Given the description of an element on the screen output the (x, y) to click on. 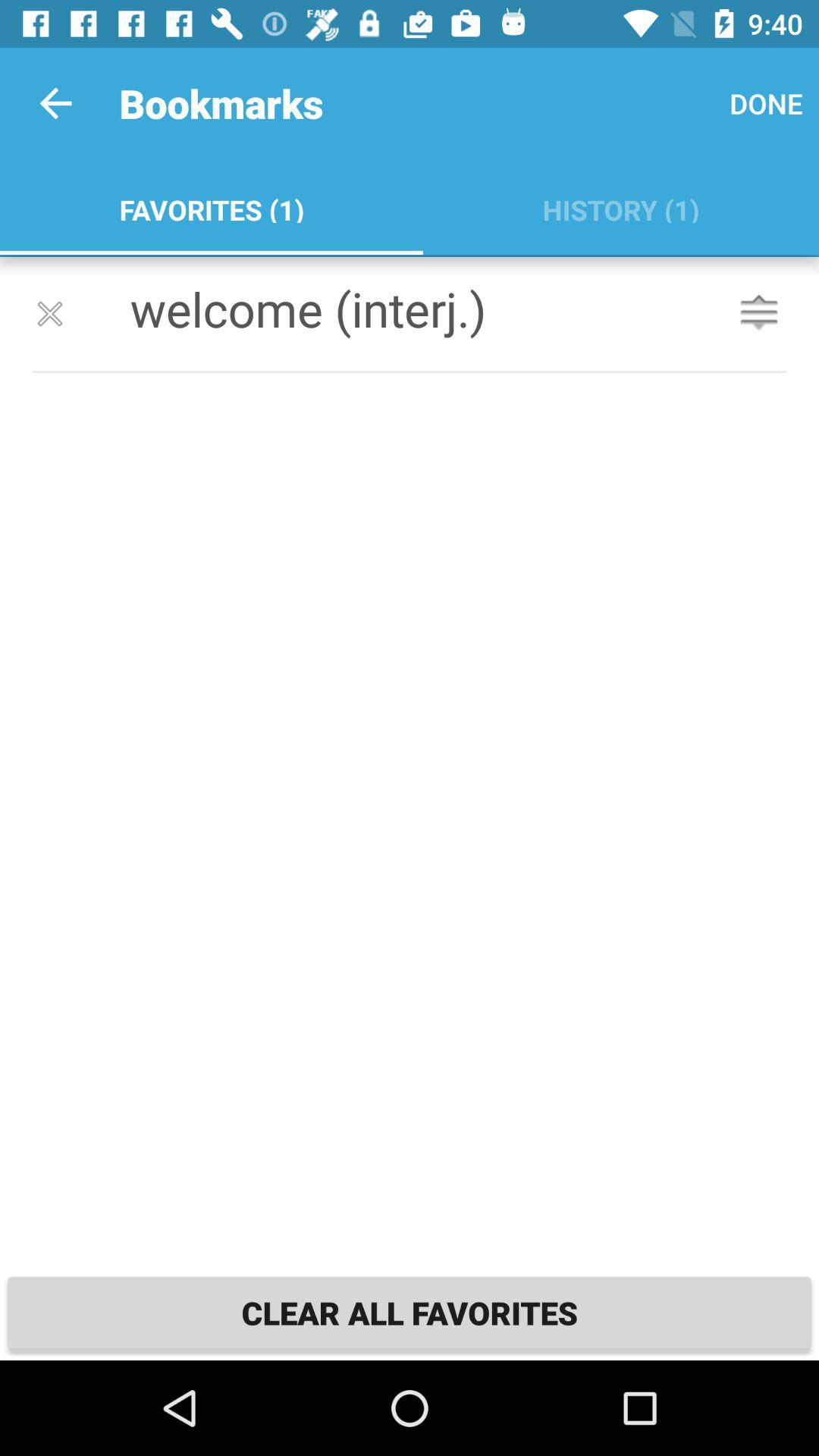
choose the item to the right of the favorites (1) item (766, 103)
